Given the description of an element on the screen output the (x, y) to click on. 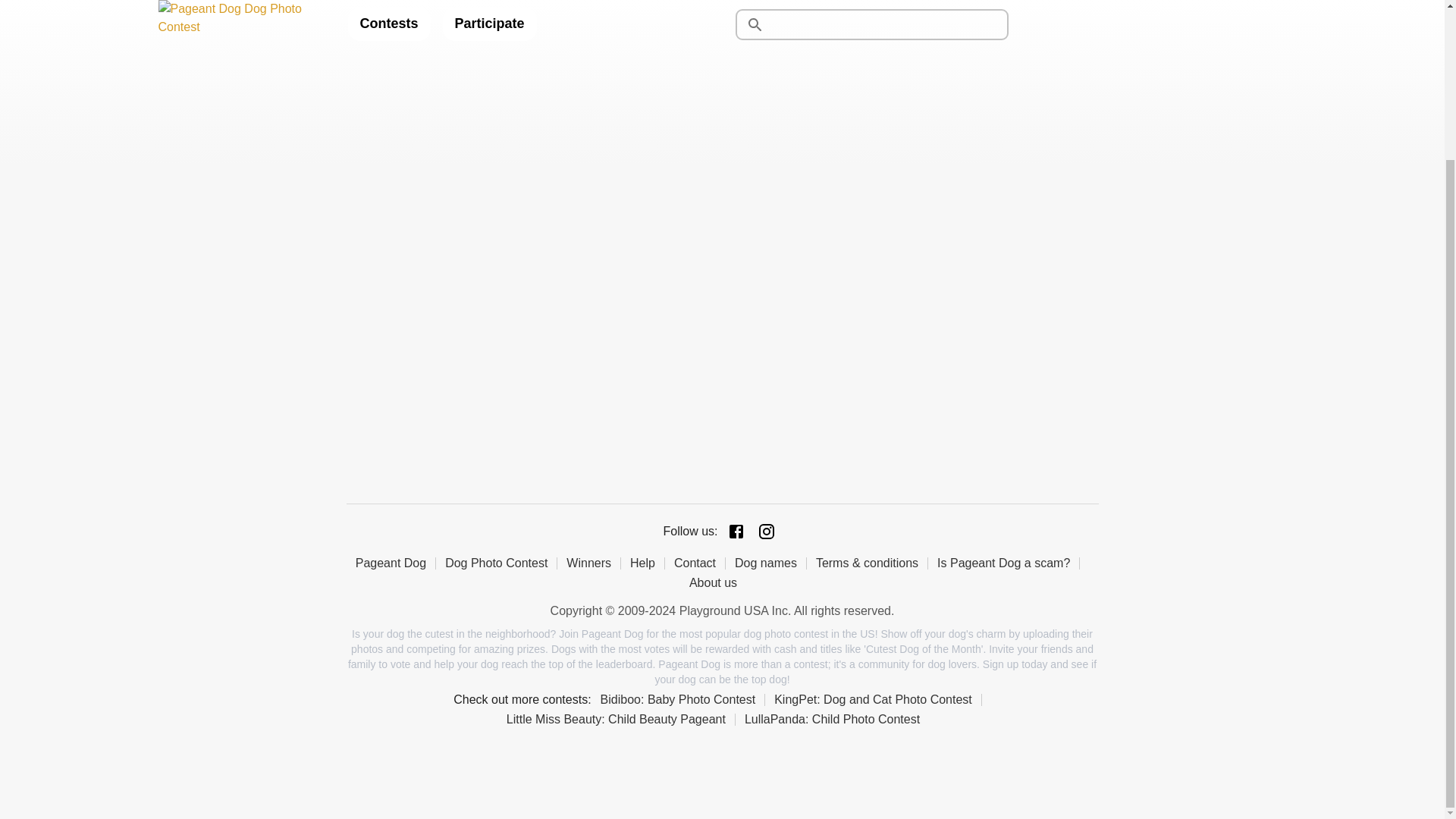
LullaPanda: Child Photo Contest (836, 719)
Winners (593, 563)
KingPet: Dog and Cat Photo Contest (877, 699)
Dog Photo Contest (501, 563)
Little Miss Beauty: Child Beauty Pageant (620, 719)
Dog names (770, 563)
Bidiboo: Baby Photo Contest (682, 699)
Is Pageant Dog a scam? (1008, 563)
Pageant Dog (395, 563)
Help (647, 563)
